Given the description of an element on the screen output the (x, y) to click on. 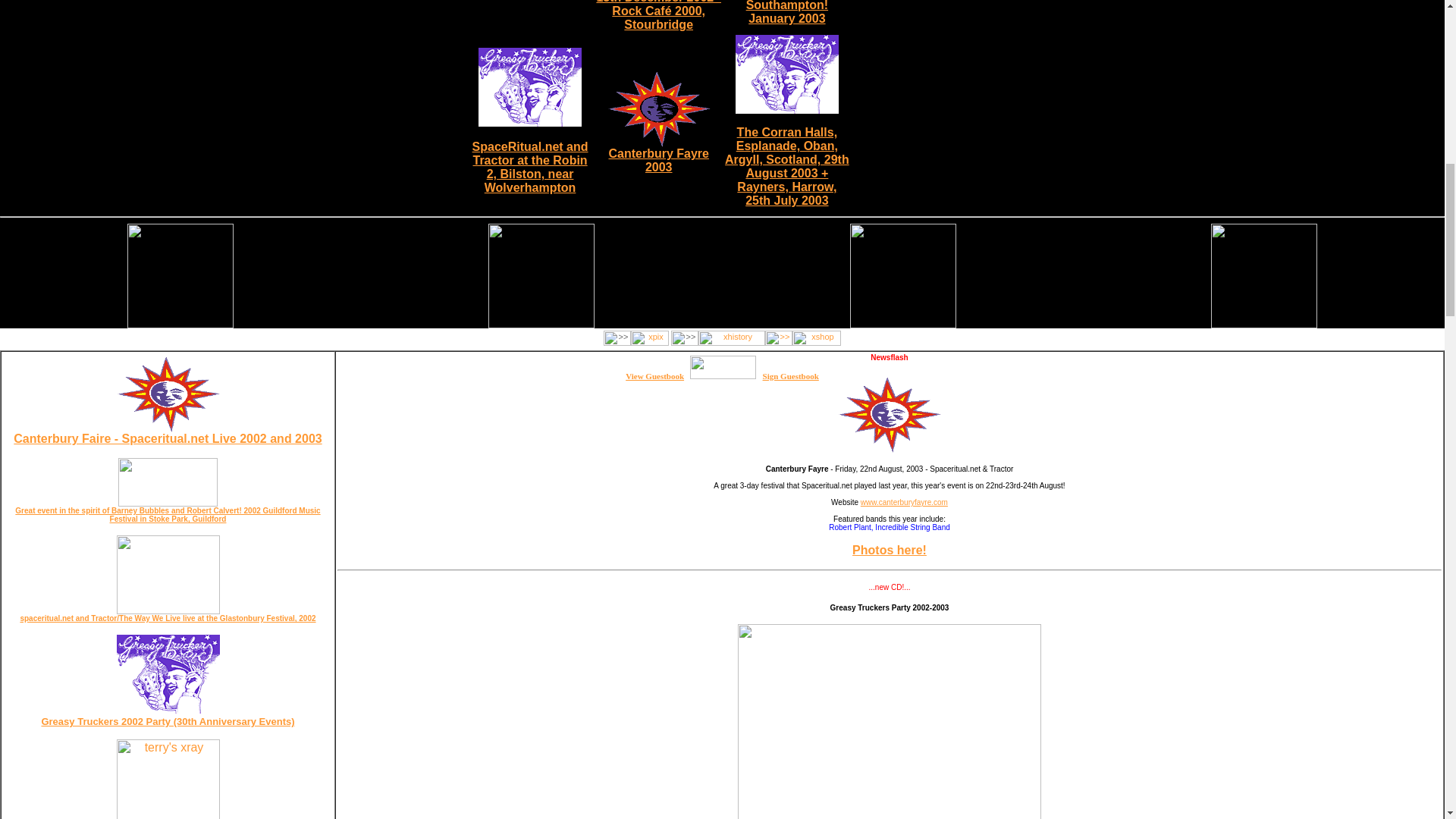
Sign Guestbook (790, 375)
View Guestbook (658, 154)
Canterbury Faire - Spaceritual.net Live 2002 and 2003 (655, 375)
